Given the description of an element on the screen output the (x, y) to click on. 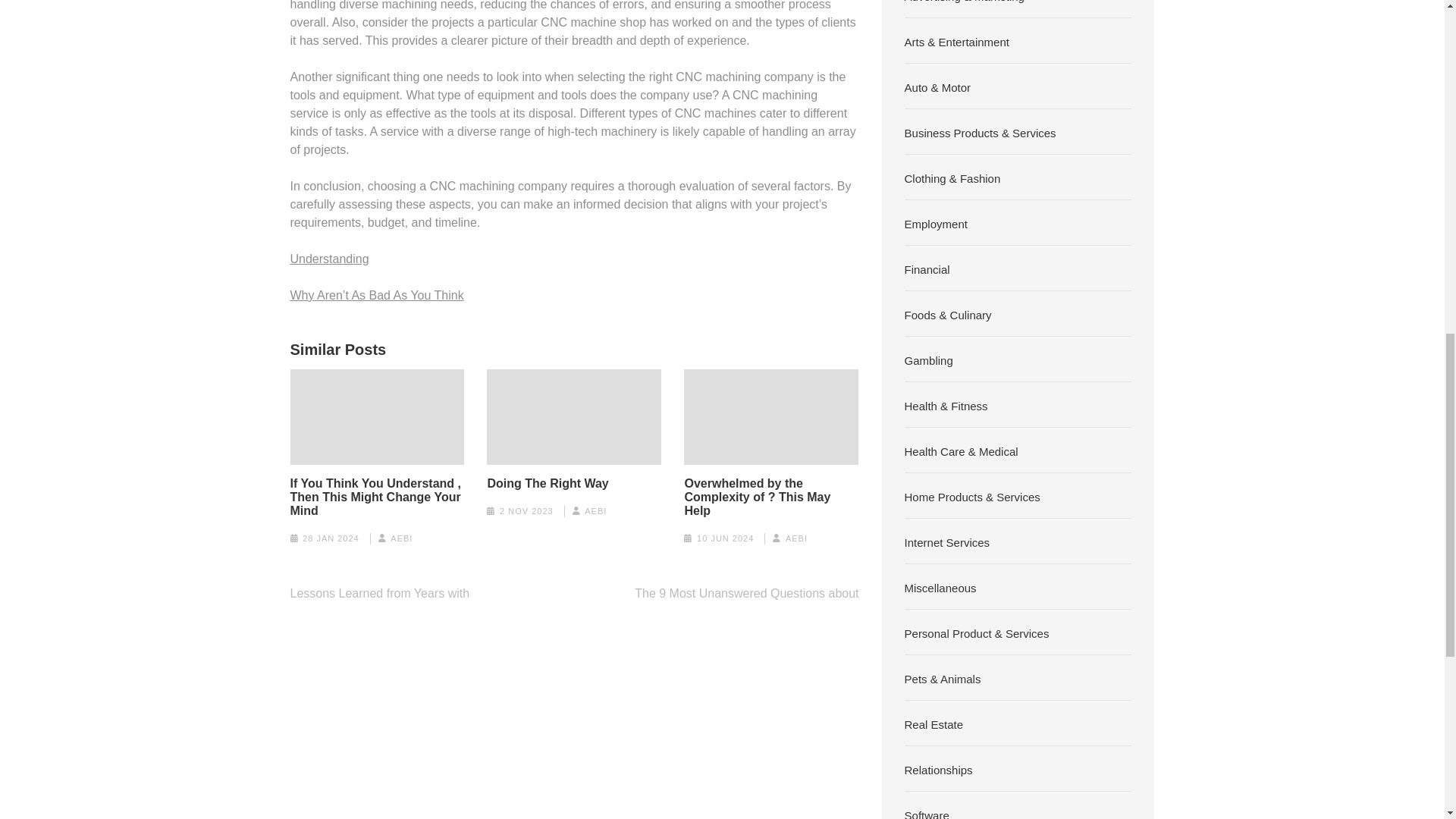
Doing The Right Way (547, 483)
10 JUN 2024 (725, 537)
AEBI (401, 537)
Financial (927, 268)
Lessons Learned from Years with (378, 593)
The 9 Most Unanswered Questions about (746, 593)
Overwhelmed by the Complexity of ? This May Help (771, 496)
2 NOV 2023 (526, 510)
Understanding (328, 257)
Employment (936, 223)
28 JAN 2024 (330, 537)
AEBI (797, 537)
AEBI (596, 510)
